Given the description of an element on the screen output the (x, y) to click on. 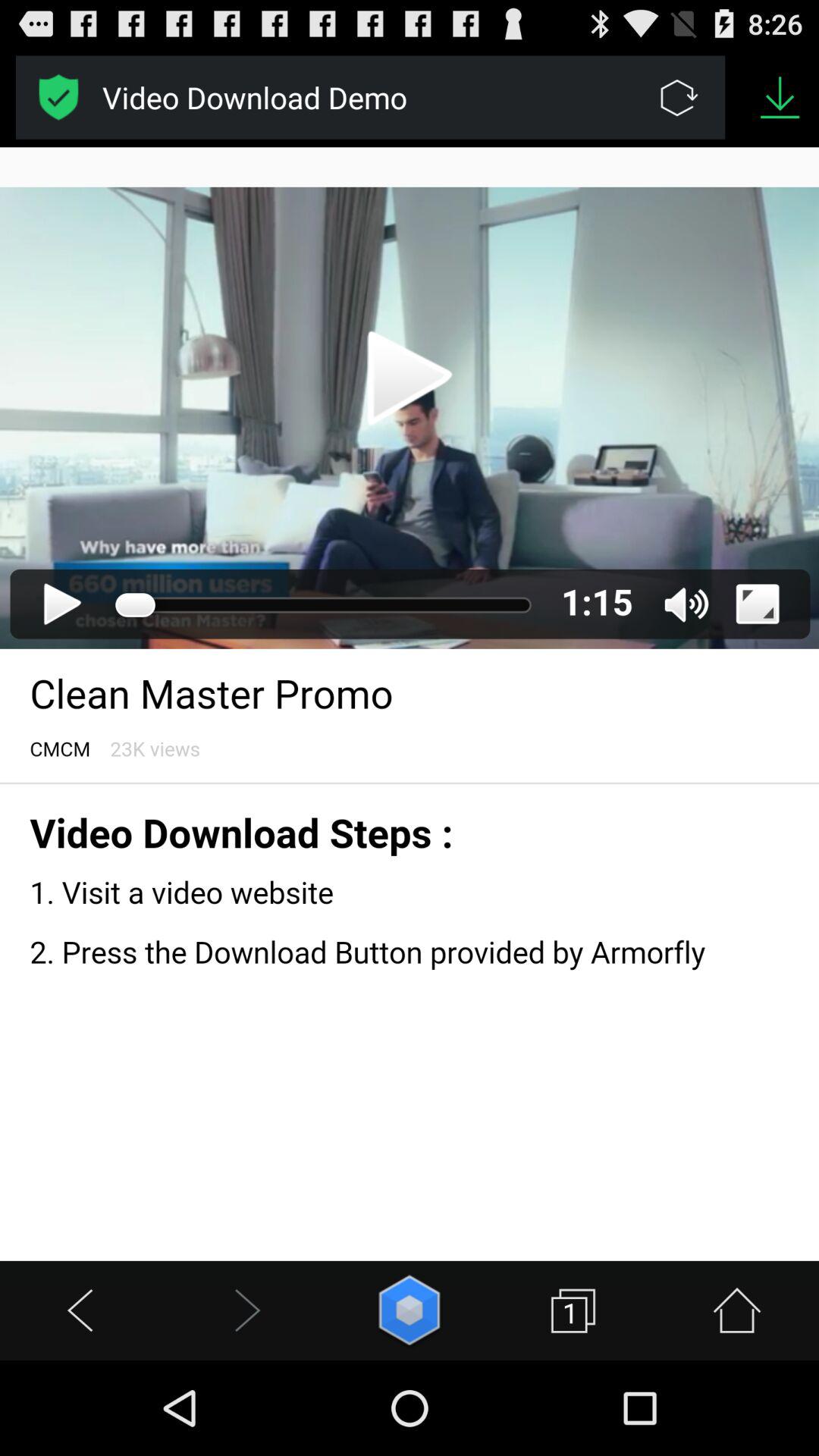
video download demo selection (59, 97)
